Given the description of an element on the screen output the (x, y) to click on. 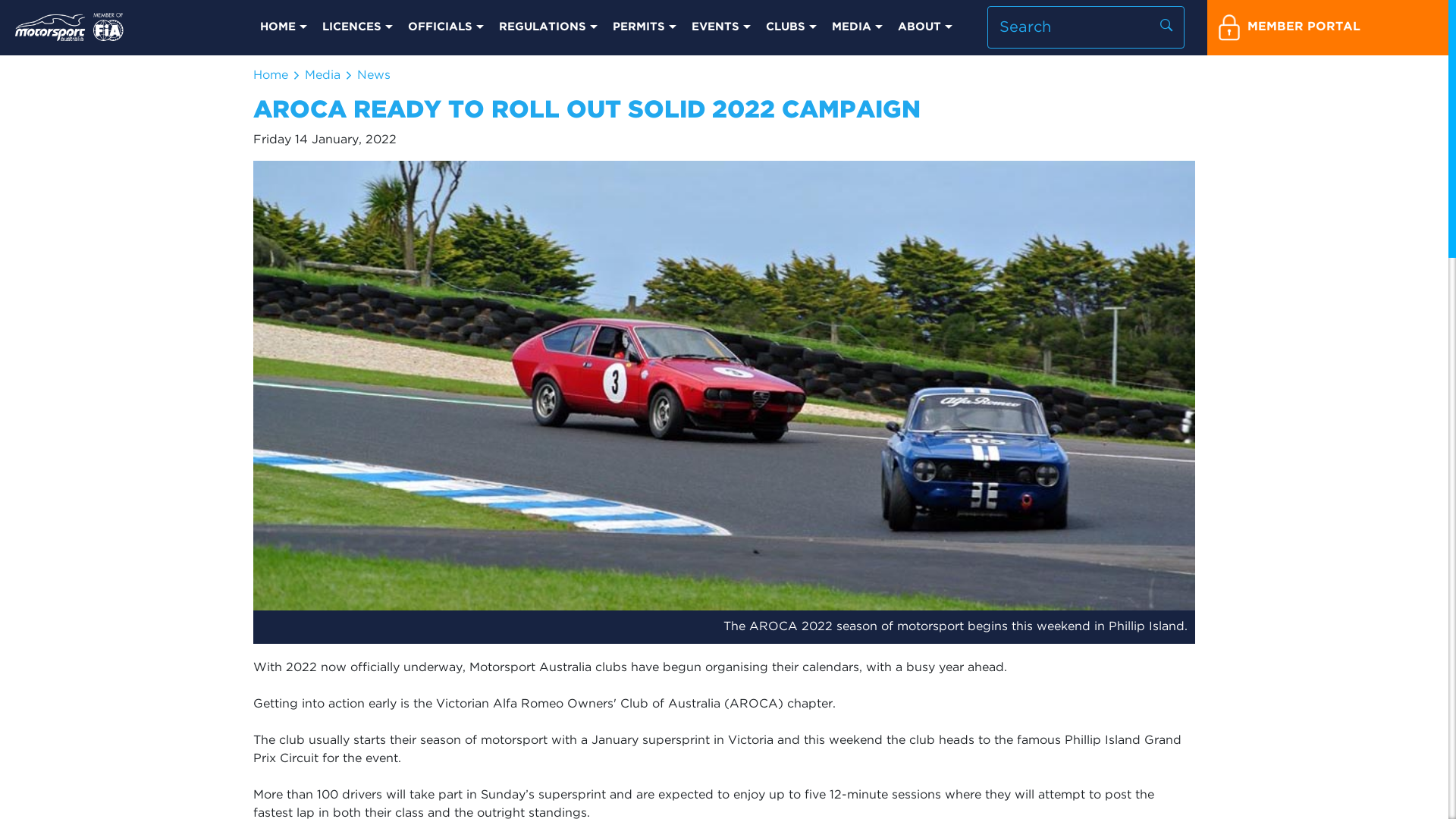
MEDIA Element type: text (857, 27)
PERMITS Element type: text (644, 27)
ABOUT Element type: text (925, 27)
OFFICIALS Element type: text (445, 27)
HOME Element type: text (283, 27)
Home Element type: text (270, 75)
EVENTS Element type: text (721, 27)
Media Element type: text (322, 75)
REGULATIONS Element type: text (548, 27)
MEMBER PORTAL Element type: text (1327, 27)
LICENCES Element type: text (357, 27)
CLUBS Element type: text (791, 27)
Search input Element type: hover (1085, 27)
